Given the description of an element on the screen output the (x, y) to click on. 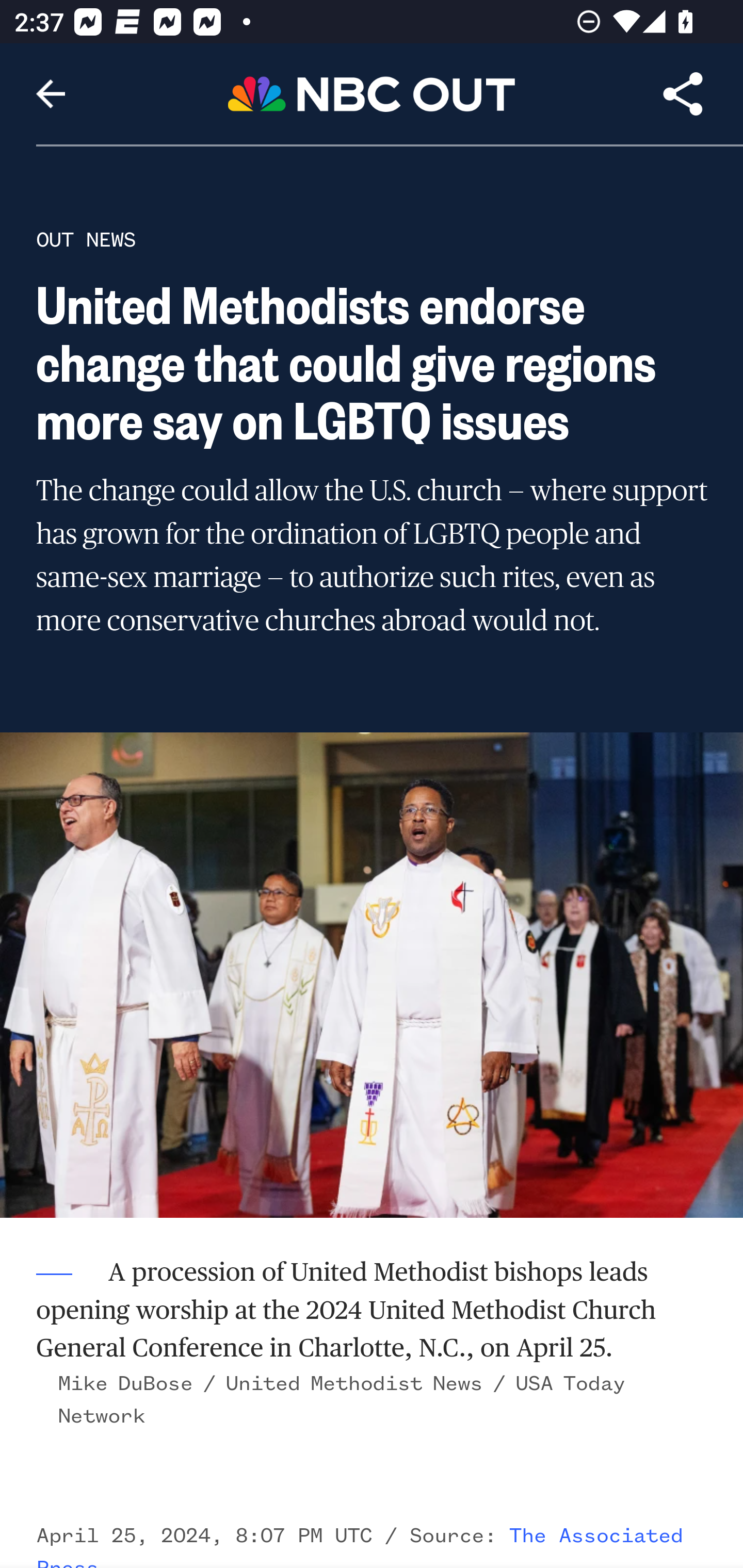
Navigate up (50, 93)
Share Article, button (683, 94)
Header, NBC Out (371, 93)
